Given the description of an element on the screen output the (x, y) to click on. 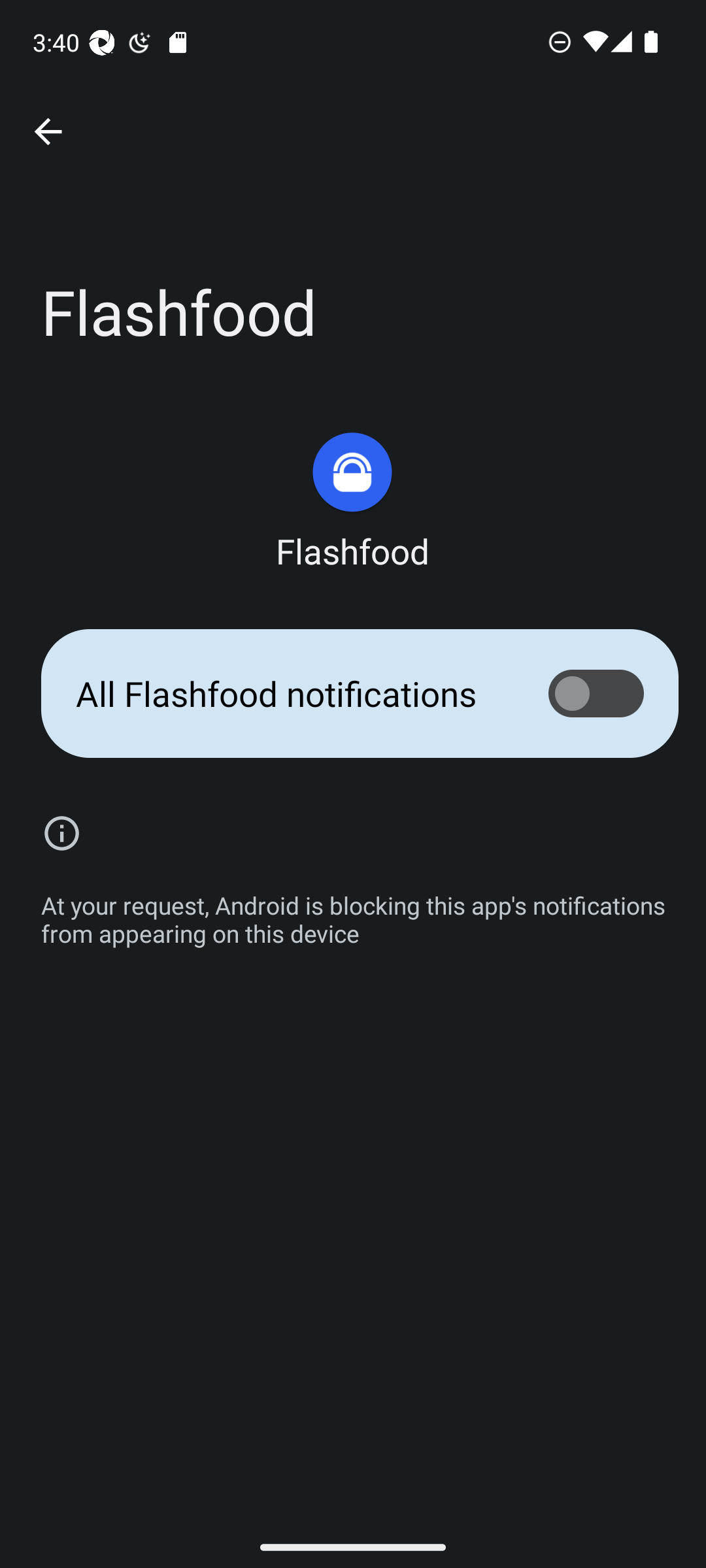
Navigate up (48, 131)
Flashfood (353, 496)
Flashfood (352, 502)
All Flashfood notifications (353, 693)
